Given the description of an element on the screen output the (x, y) to click on. 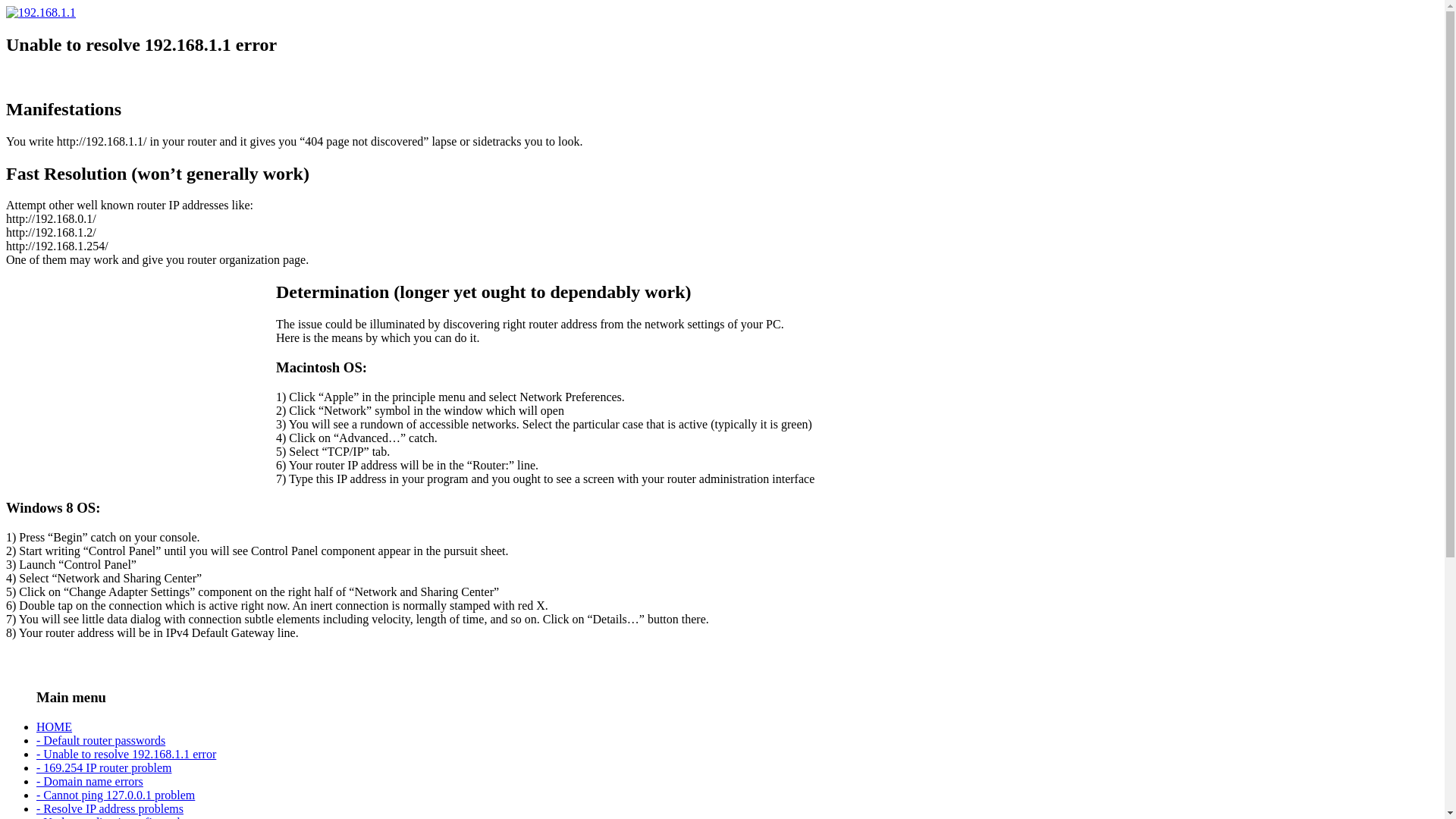
- Unable to resolve 192.168.1.1 error Element type: text (126, 753)
192.168.1.1 Element type: hover (40, 12)
- Resolve IP address problems Element type: text (109, 808)
- Default router passwords Element type: text (100, 740)
HOME Element type: text (54, 726)
- Cannot ping 127.0.0.1 problem Element type: text (115, 794)
- Domain name errors Element type: text (89, 781)
- 169.254 IP router problem Element type: text (103, 767)
